Given the description of an element on the screen output the (x, y) to click on. 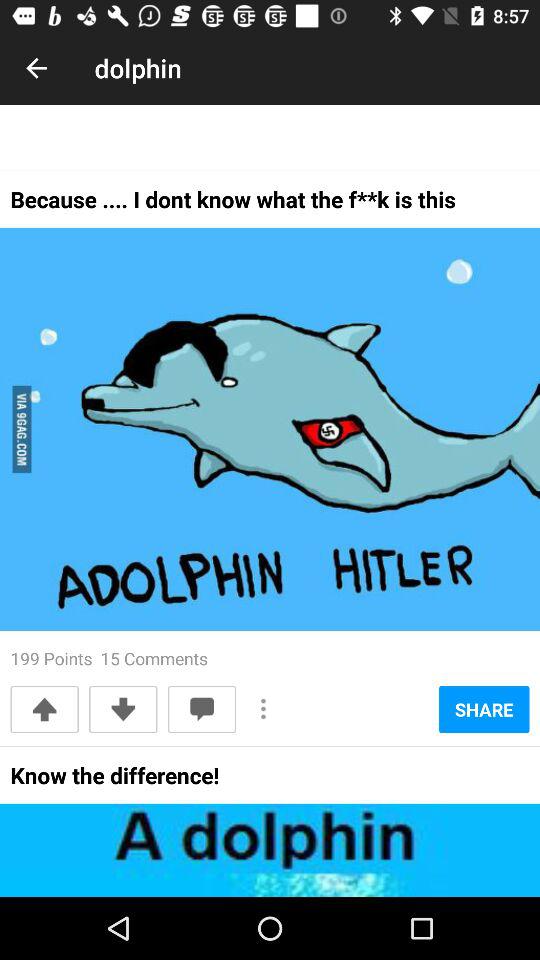
select the icon below 199 points 	15 icon (202, 709)
